Given the description of an element on the screen output the (x, y) to click on. 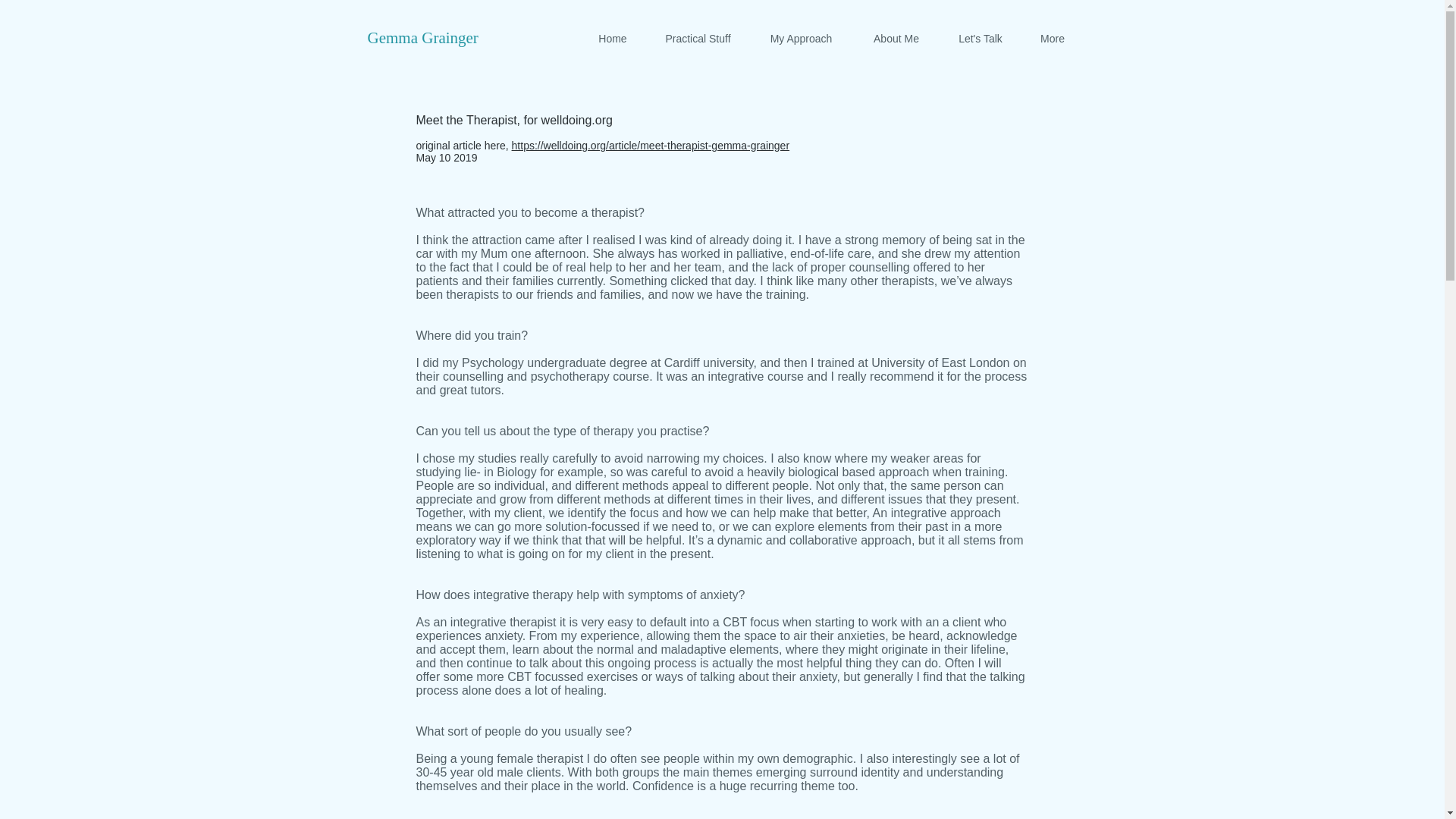
Let's Talk (981, 38)
My Approach (800, 38)
About Me (895, 38)
Home (612, 38)
Practical Stuff (697, 38)
Gemma Grainger (421, 37)
